Given the description of an element on the screen output the (x, y) to click on. 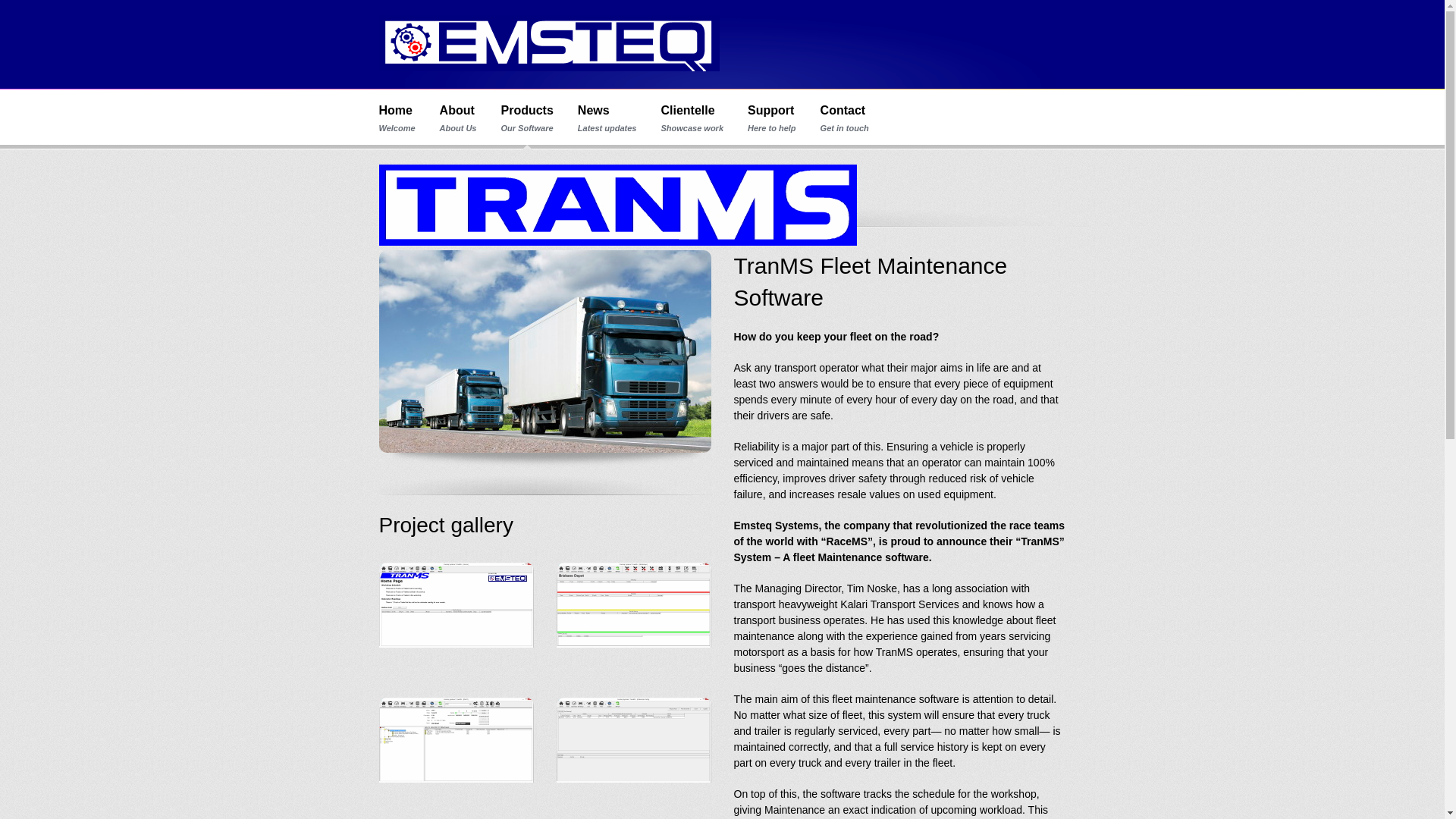
Clientelle
Showcase work Element type: text (691, 118)
News
Latest updates Element type: text (607, 118)
Products
Our Software Element type: text (526, 118)
Contact
Get in touch Element type: text (844, 118)
Home
Welcome Element type: text (397, 118)
About
About Us Element type: text (457, 118)
Support
Here to help Element type: text (771, 118)
